Given the description of an element on the screen output the (x, y) to click on. 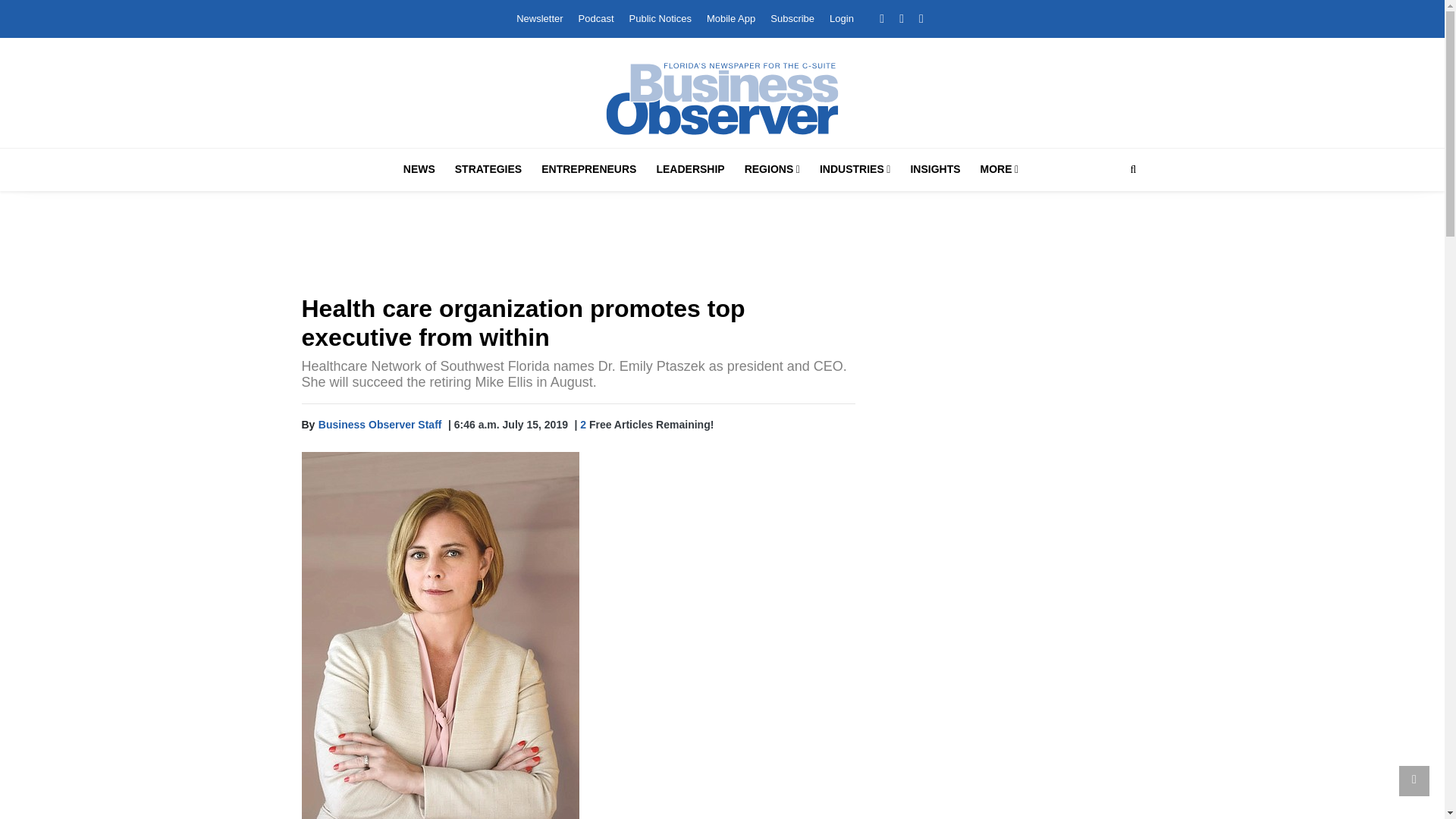
INSIGHTS (935, 169)
ENTREPRENEURS (588, 169)
Login (841, 18)
3rd party ad content (1010, 400)
Newsletter (539, 18)
INDUSTRIES (855, 169)
3rd party ad content (1010, 612)
MORE (999, 169)
STRATEGIES (487, 169)
3rd party ad content (1010, 774)
Podcast (596, 18)
3rd party ad content (722, 246)
NEWS (419, 169)
Subscribe (791, 18)
